Given the description of an element on the screen output the (x, y) to click on. 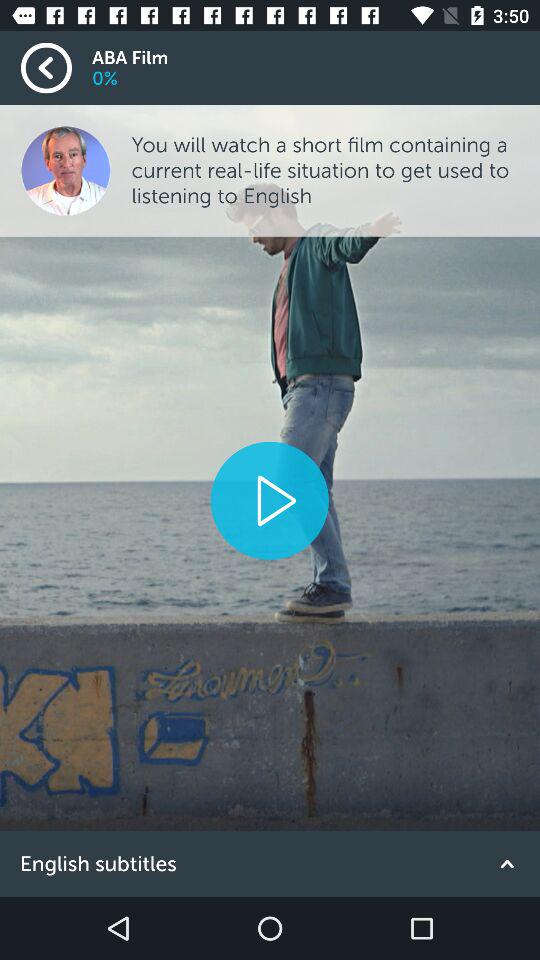
flip to no subtitles icon (270, 863)
